Given the description of an element on the screen output the (x, y) to click on. 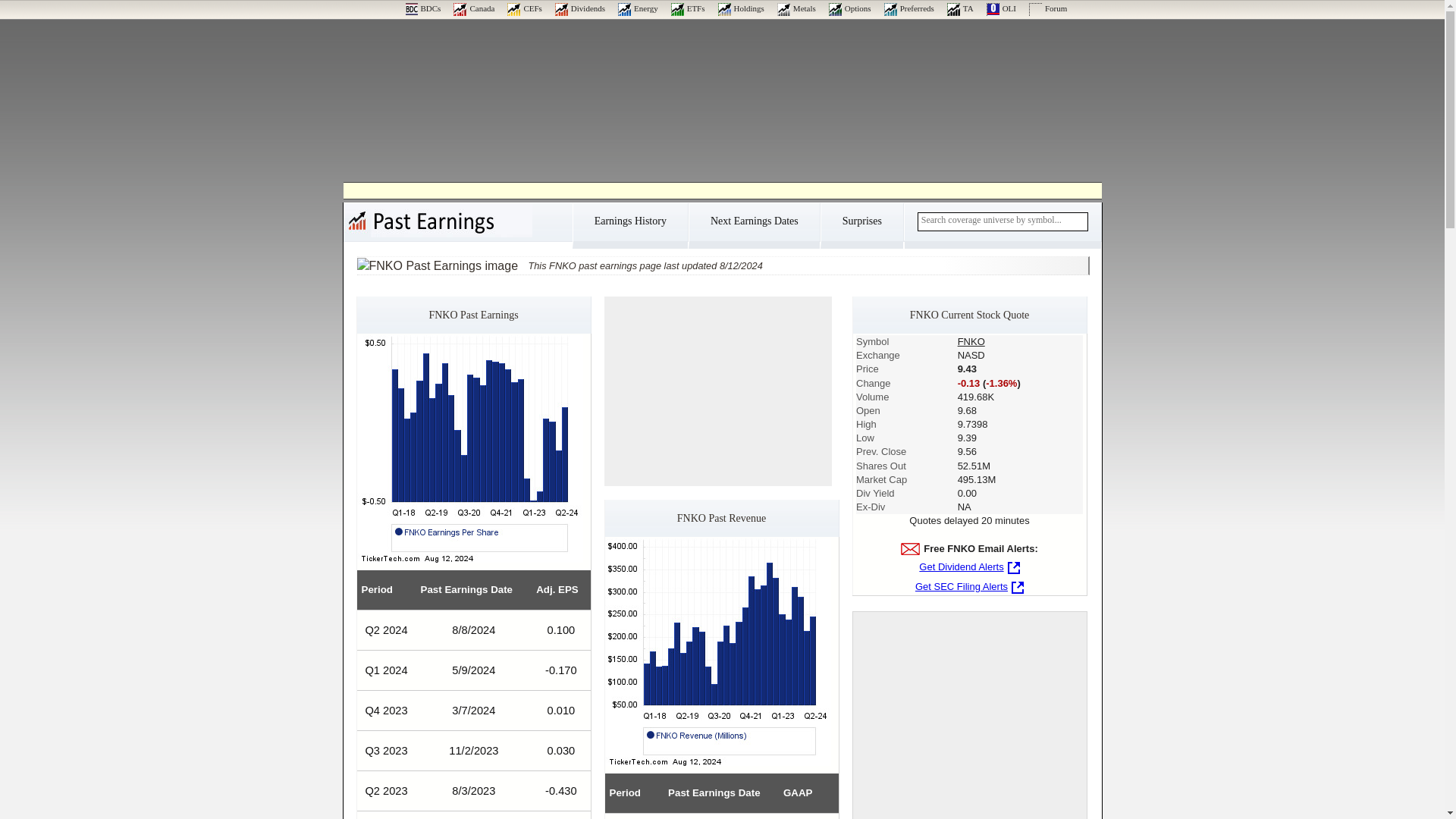
Metals (796, 8)
Stock Options Channel (849, 8)
BDC Investor (422, 8)
CEFs (523, 8)
Dividend Channel (579, 8)
Preferred Stocks (908, 8)
Earnings History (629, 225)
ETF Channel (687, 8)
Get SEC Filing Alerts (969, 586)
TA (960, 8)
